Given the description of an element on the screen output the (x, y) to click on. 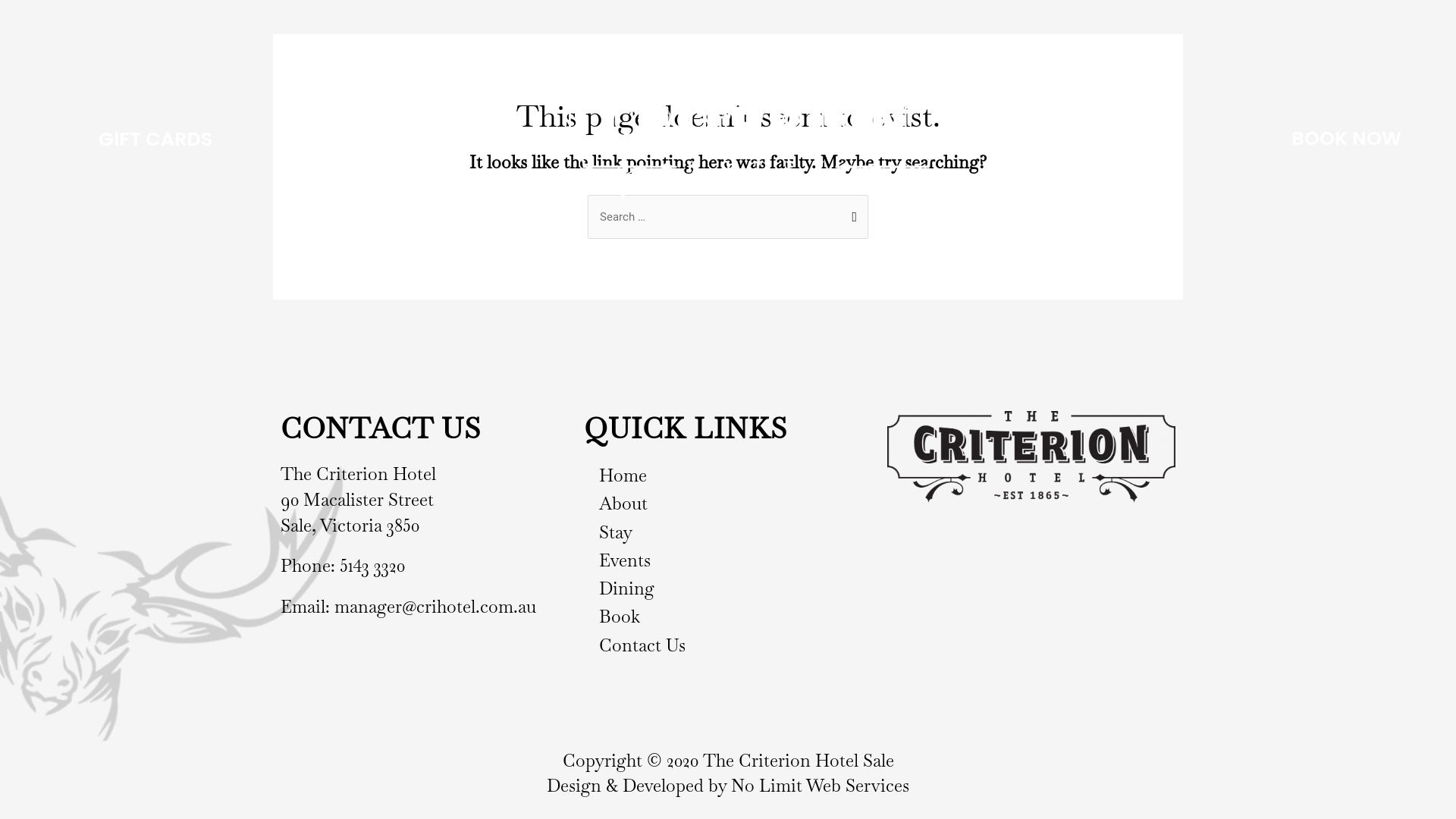
Book Element type: text (727, 616)
BOOK NOW Element type: text (1348, 138)
DINING Element type: text (466, 140)
ABOUT Element type: text (368, 140)
Search Element type: text (851, 209)
Email: manager@crihotel.com.au Element type: text (408, 607)
STAY Element type: text (1035, 140)
Dining Element type: text (727, 588)
Home Element type: text (727, 475)
EVENTS Element type: text (1126, 140)
About Element type: text (727, 503)
Stay Element type: text (727, 532)
Contact Us Element type: text (727, 645)
GIFT CARDS Element type: text (155, 138)
Phone: 5143 3320 Element type: text (342, 566)
Events Element type: text (727, 560)
